Given the description of an element on the screen output the (x, y) to click on. 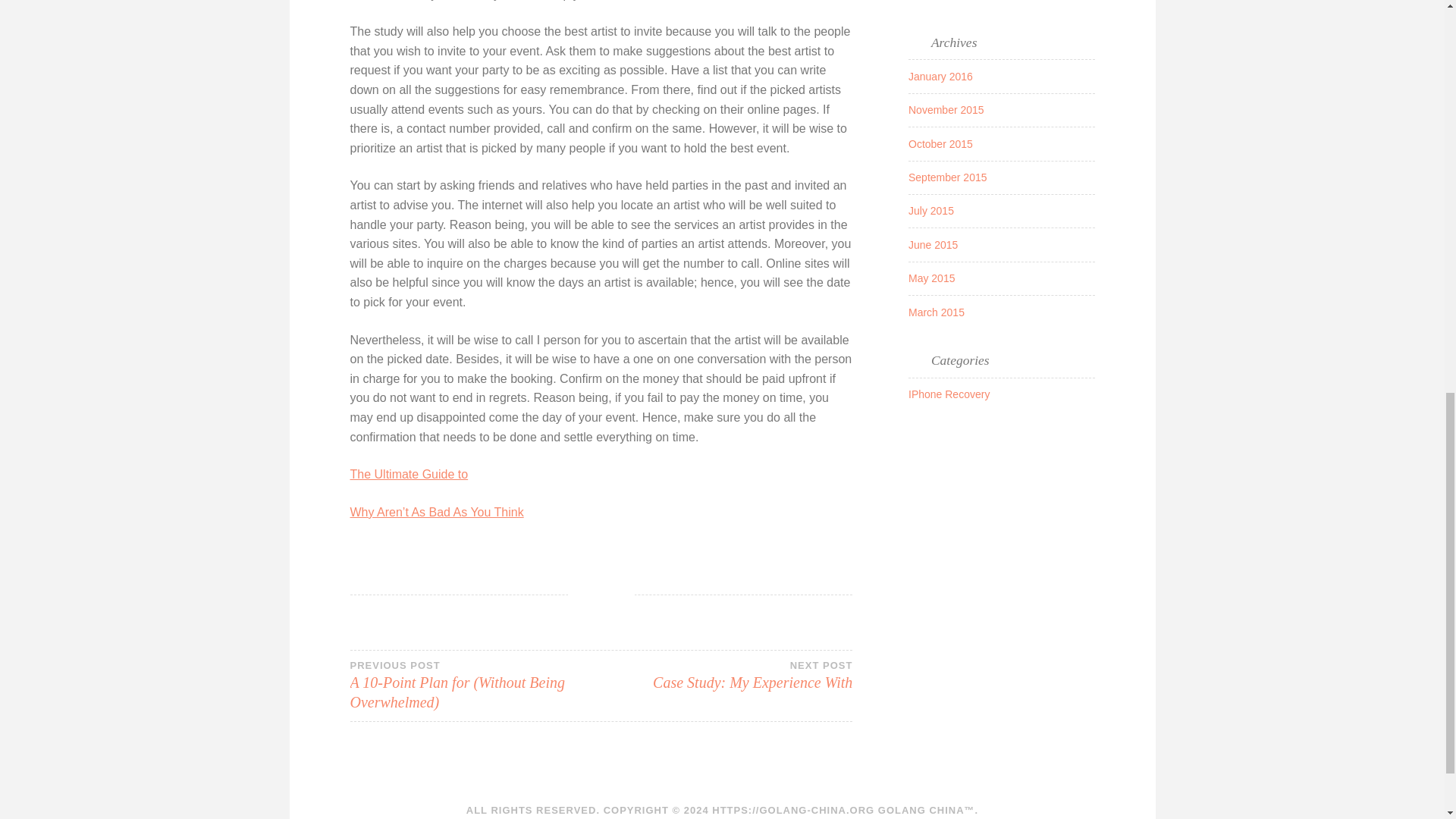
July 2015 (930, 210)
June 2015 (933, 244)
November 2015 (726, 675)
January 2016 (946, 110)
IPhone Recovery (940, 76)
The Ultimate Guide to (949, 394)
September 2015 (409, 473)
May 2015 (947, 177)
March 2015 (931, 277)
October 2015 (935, 312)
